Given the description of an element on the screen output the (x, y) to click on. 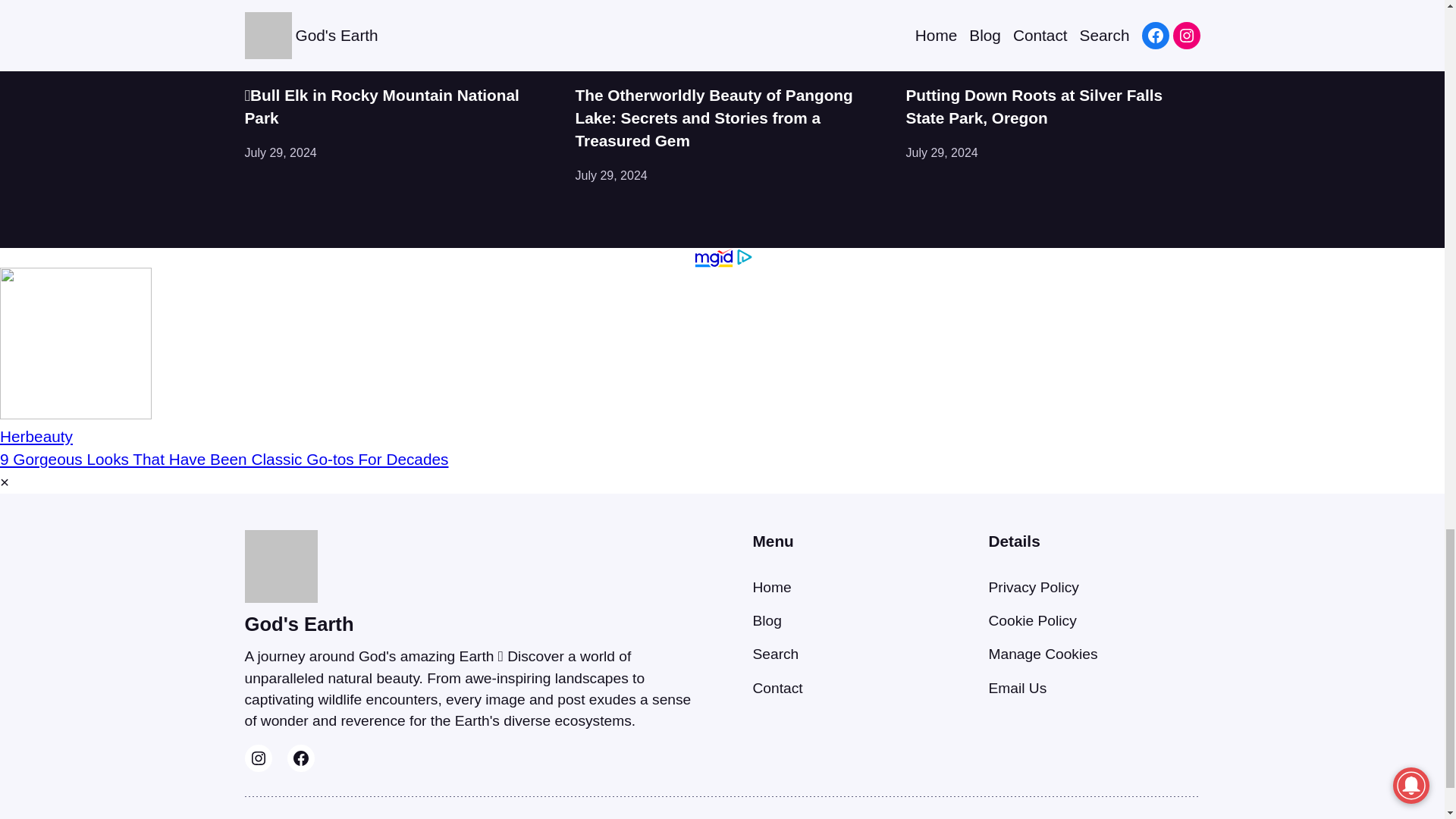
God's Earth (298, 623)
Instagram (257, 758)
Contact (777, 688)
Earth (919, 65)
Putting Down Roots at Silver Falls State Park, Oregon (1052, 106)
Blog (766, 620)
Home (771, 587)
Earth (258, 65)
Email Us (1017, 688)
Facebook (300, 758)
Manage Cookies (1042, 653)
Earth (589, 65)
Search (774, 653)
Privacy Policy (1033, 587)
